Given the description of an element on the screen output the (x, y) to click on. 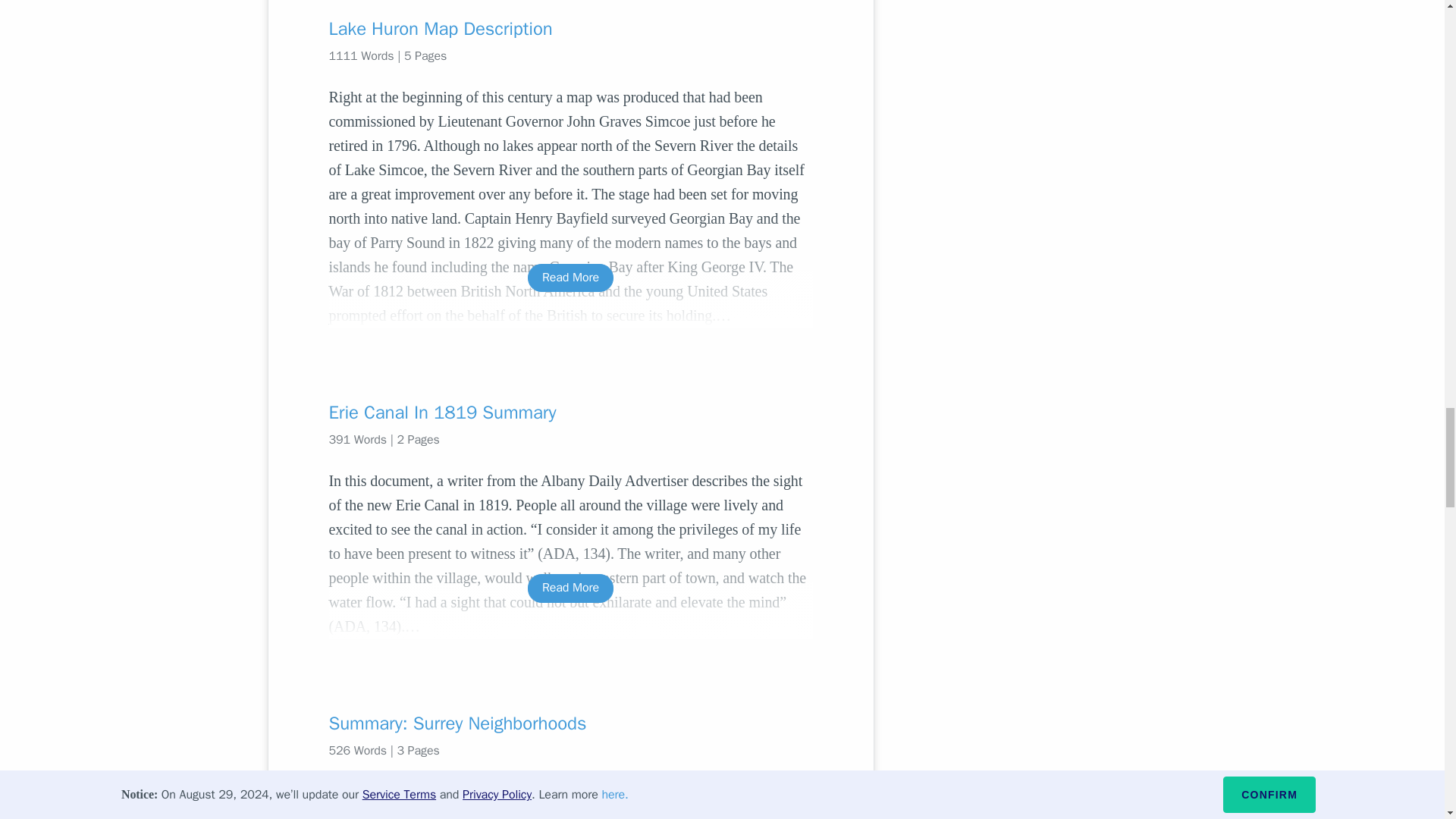
Lake Huron Map Description (570, 28)
Summary: Surrey Neighborhoods (570, 723)
Erie Canal In 1819 Summary (570, 412)
Read More (569, 587)
Read More (569, 815)
Read More (569, 277)
